Given the description of an element on the screen output the (x, y) to click on. 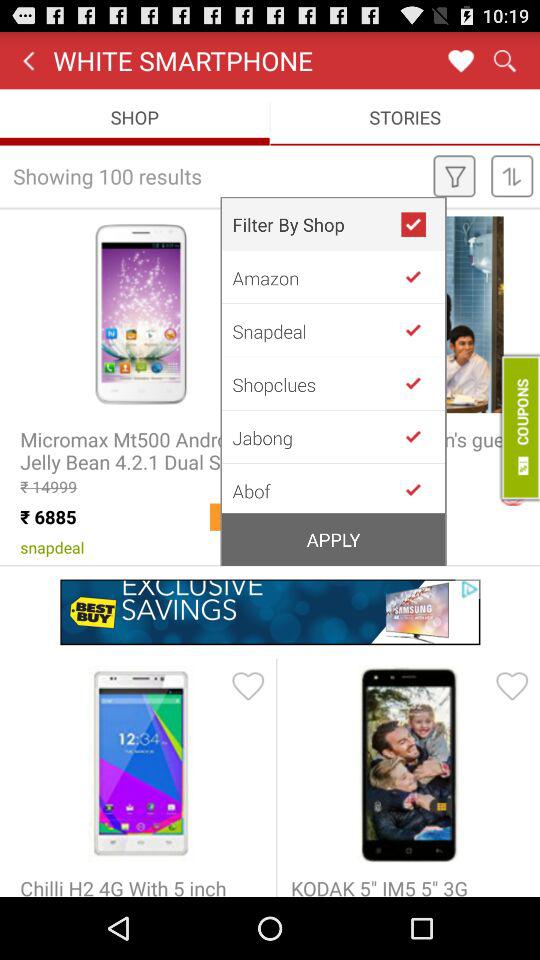
turn on shopclues app (316, 383)
